Given the description of an element on the screen output the (x, y) to click on. 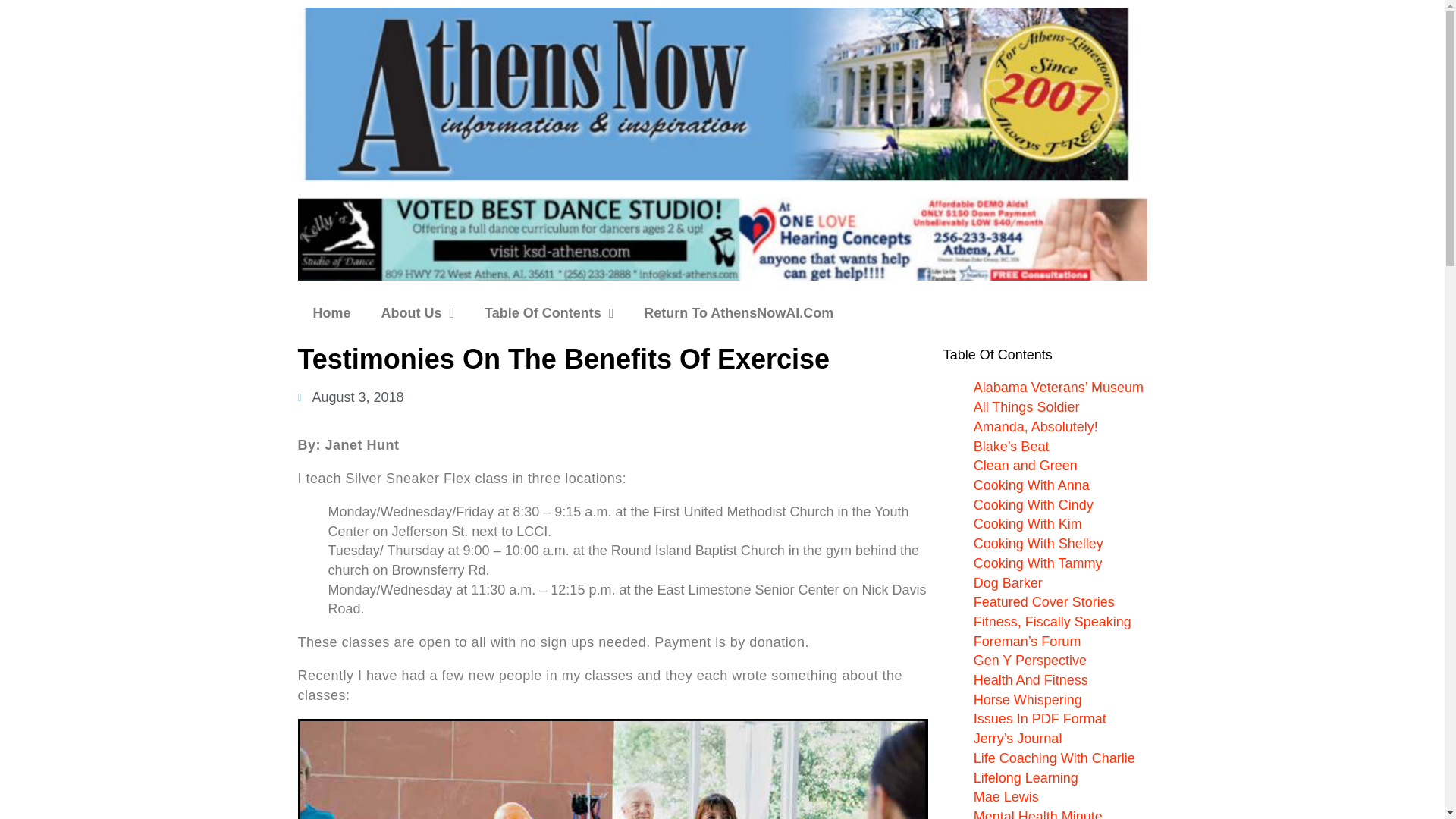
Home (331, 312)
About Us (418, 312)
Return To AthensNowAl.Com (738, 312)
Table Of Contents (548, 312)
